Given the description of an element on the screen output the (x, y) to click on. 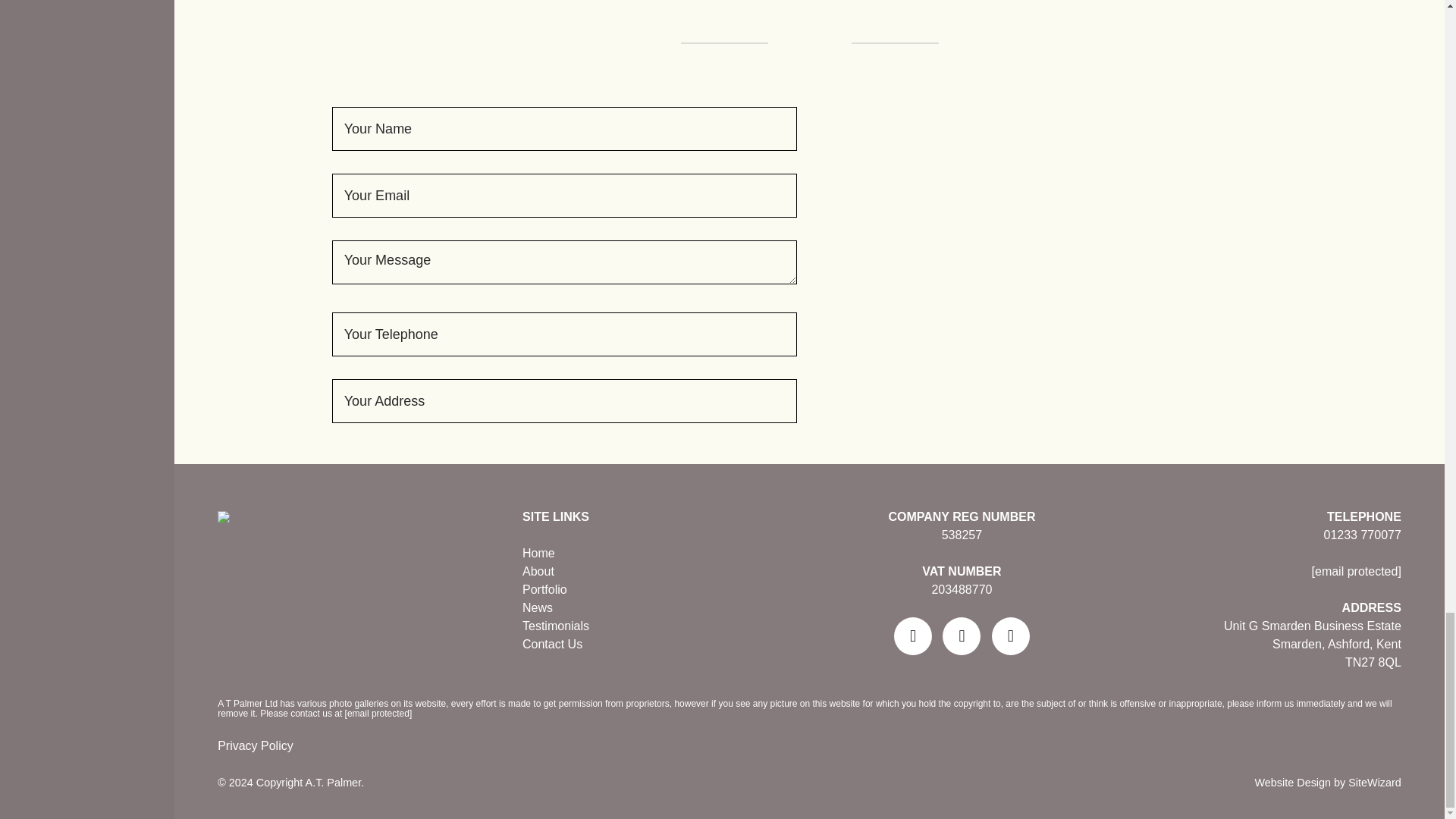
Portfolio (544, 589)
Contact Us (552, 644)
News (537, 607)
Home (538, 553)
About (538, 571)
Testimonials (555, 625)
01233 770077 (1361, 534)
Privacy Policy (808, 746)
